Given the description of an element on the screen output the (x, y) to click on. 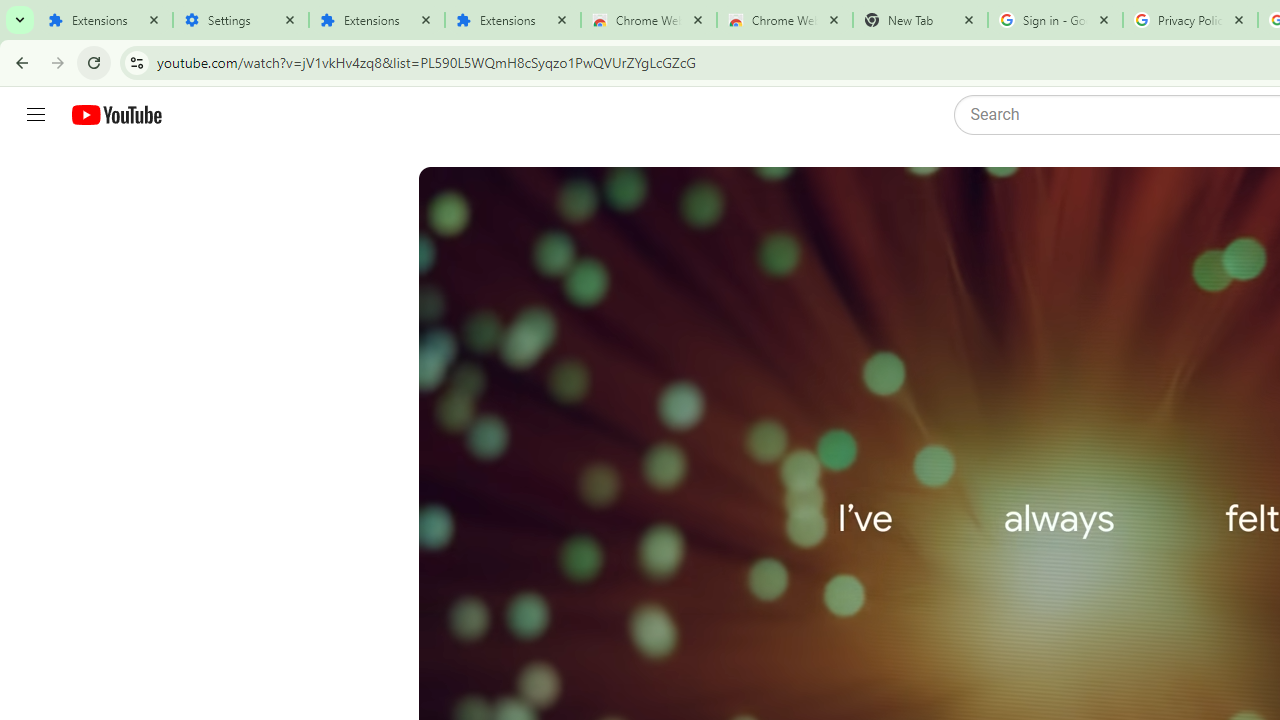
Chrome Web Store (648, 20)
Settings (240, 20)
